Given the description of an element on the screen output the (x, y) to click on. 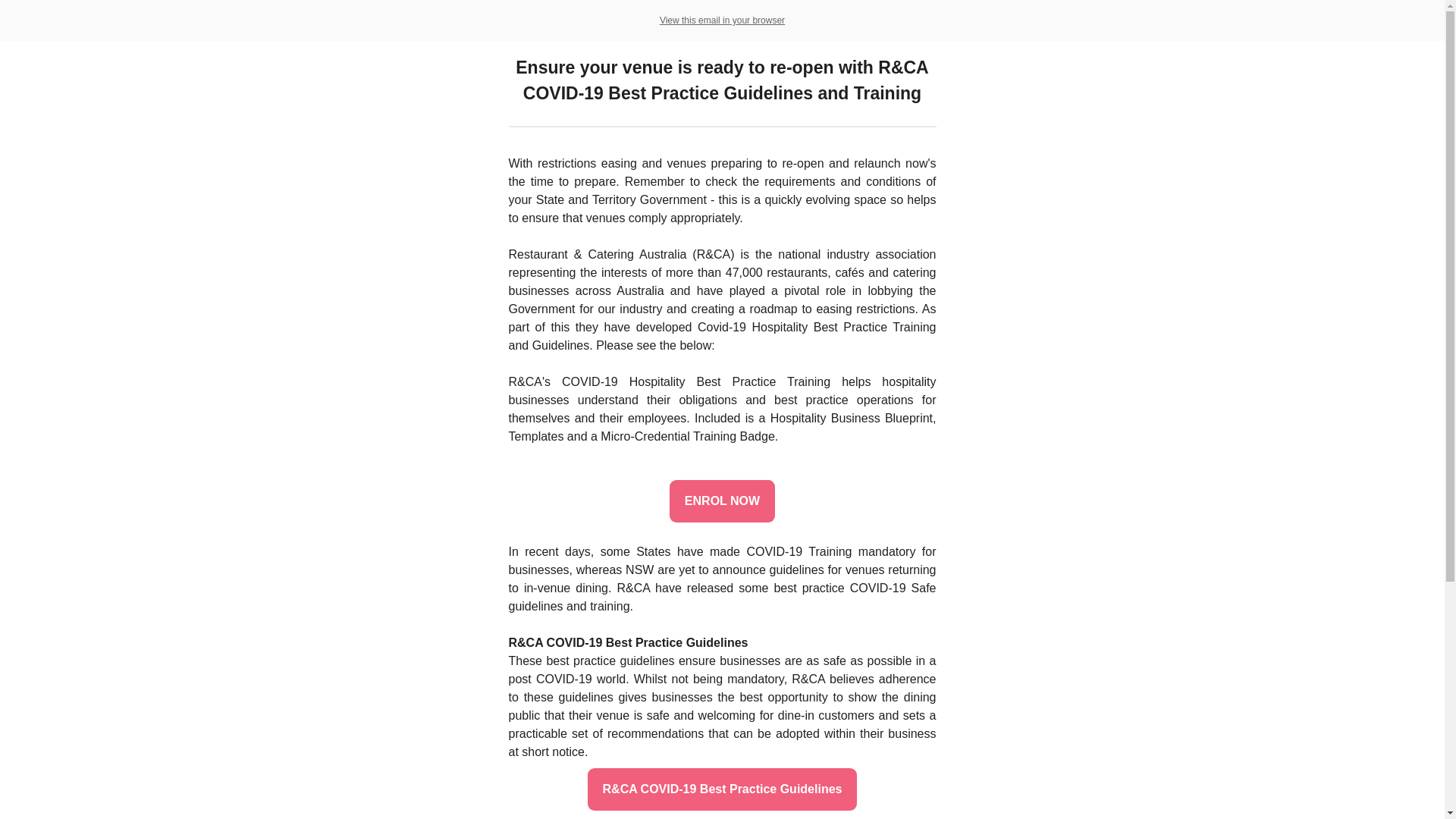
View this email in your browser Element type: text (721, 20)
ENROL NOW Element type: text (721, 501)
R&CA COVID-19 Best Practice Guidelines Element type: text (722, 789)
